Given the description of an element on the screen output the (x, y) to click on. 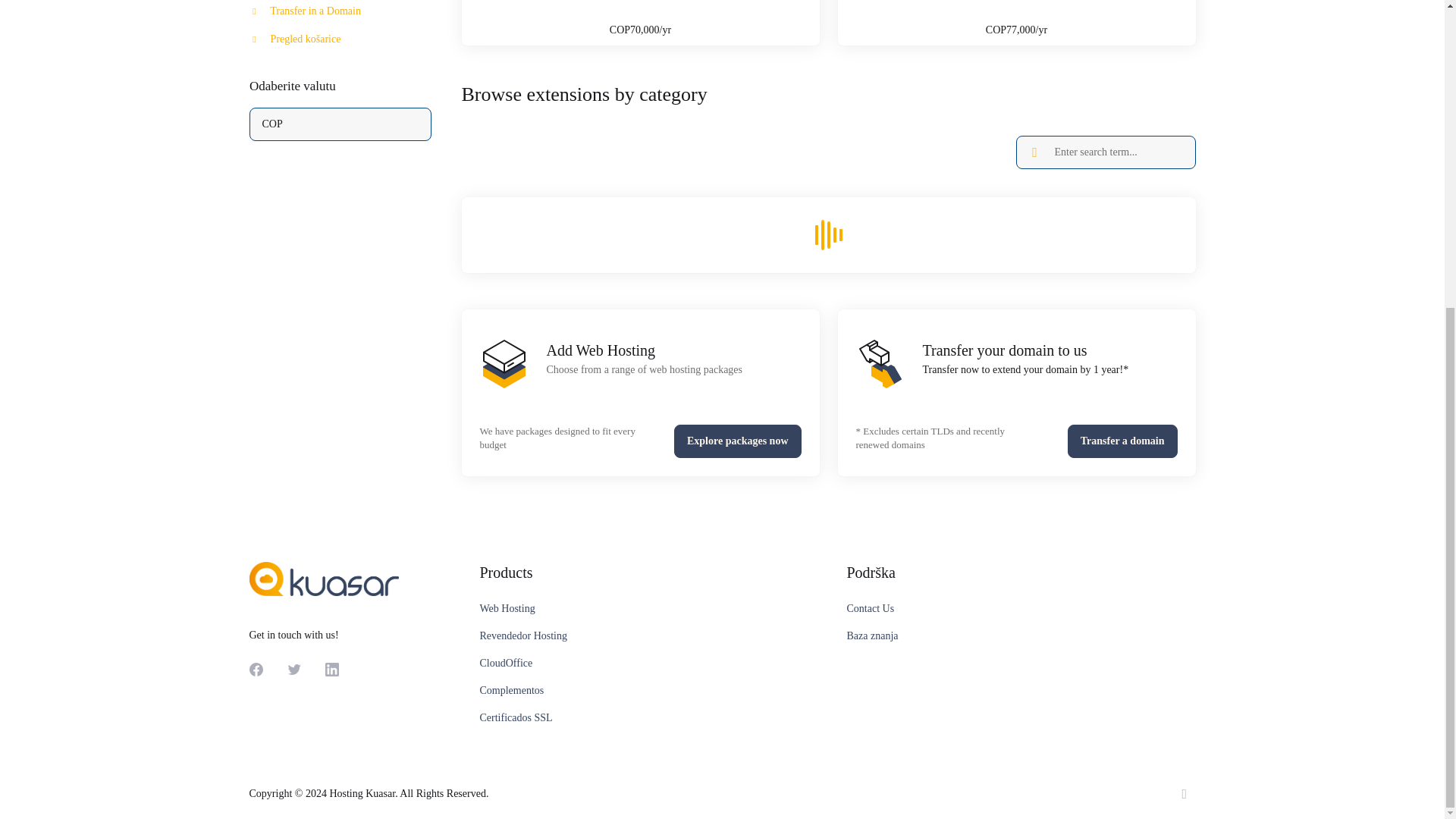
Hosting Kuasar (322, 578)
  Transfer in a Domain (340, 12)
